Given the description of an element on the screen output the (x, y) to click on. 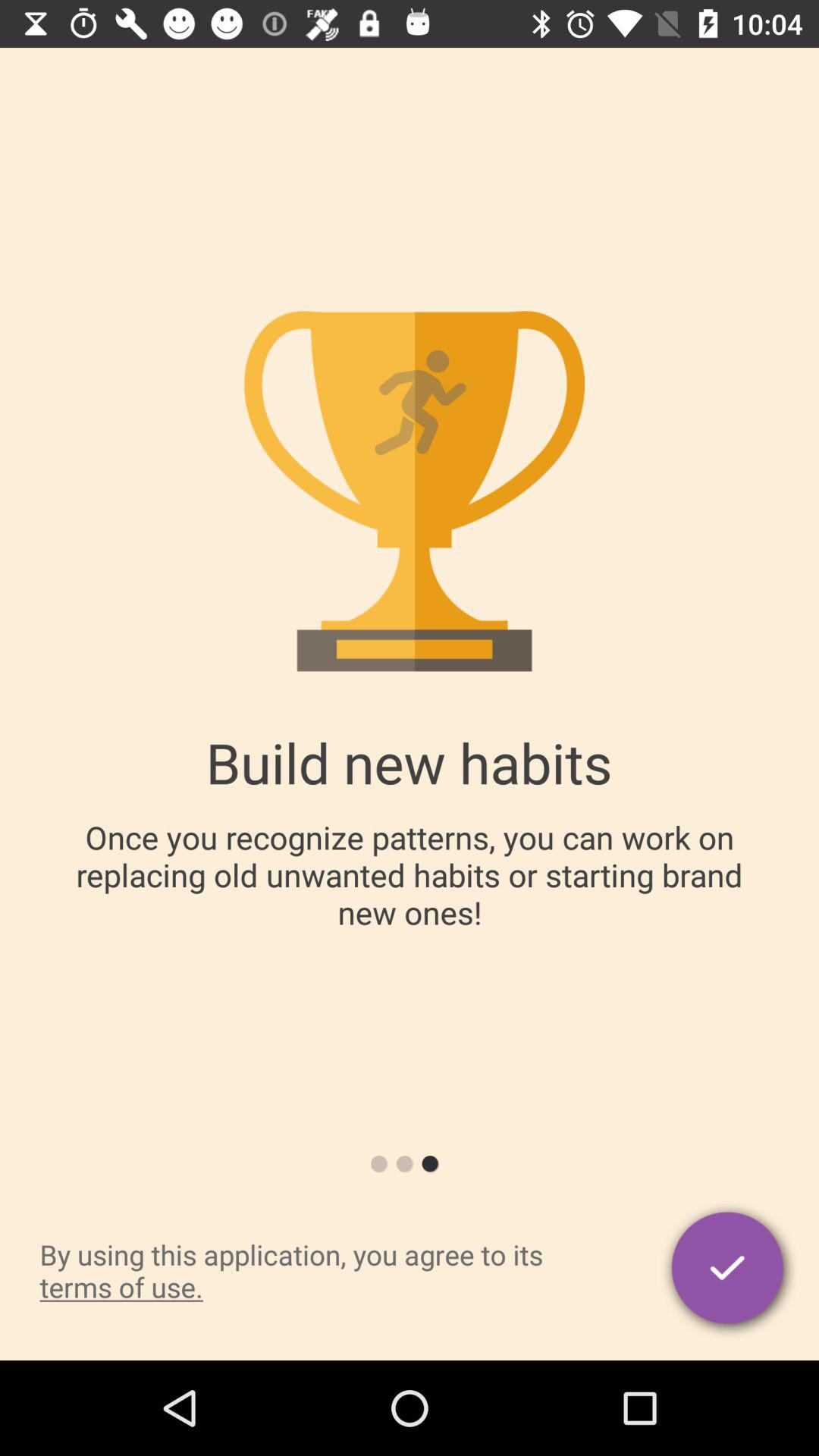
choose by using this icon (323, 1270)
